Given the description of an element on the screen output the (x, y) to click on. 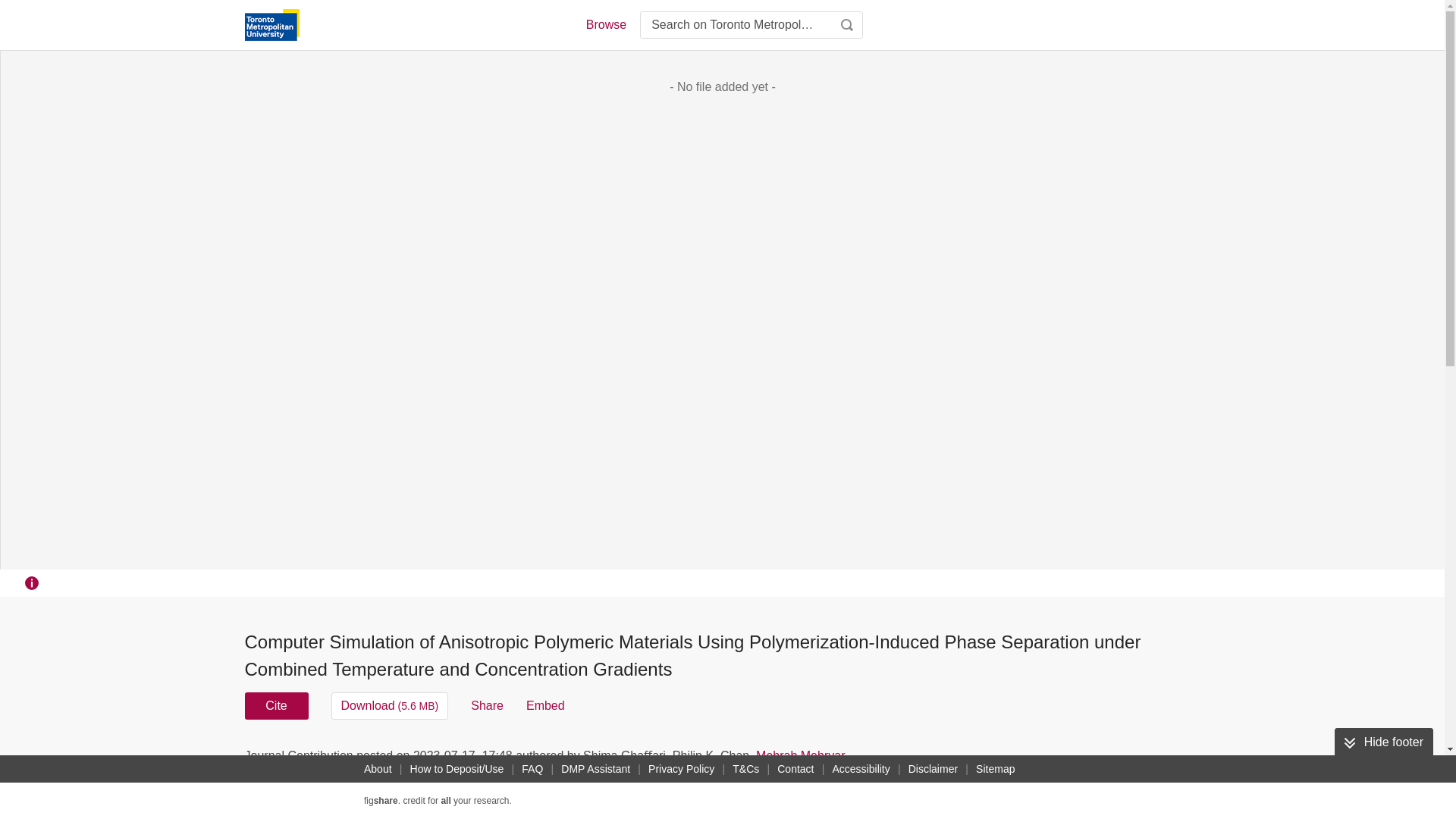
Accessibility (861, 769)
USAGE METRICS (976, 759)
Privacy Policy (681, 769)
Browse (605, 24)
Sitemap (995, 769)
DMP Assistant (595, 769)
Contact (795, 769)
Disclaimer (933, 769)
Cite (275, 705)
Embed (544, 705)
About (377, 769)
Mehrab Mehrvar (799, 755)
Share (486, 705)
Hide footer (1383, 742)
FAQ (531, 769)
